Given the description of an element on the screen output the (x, y) to click on. 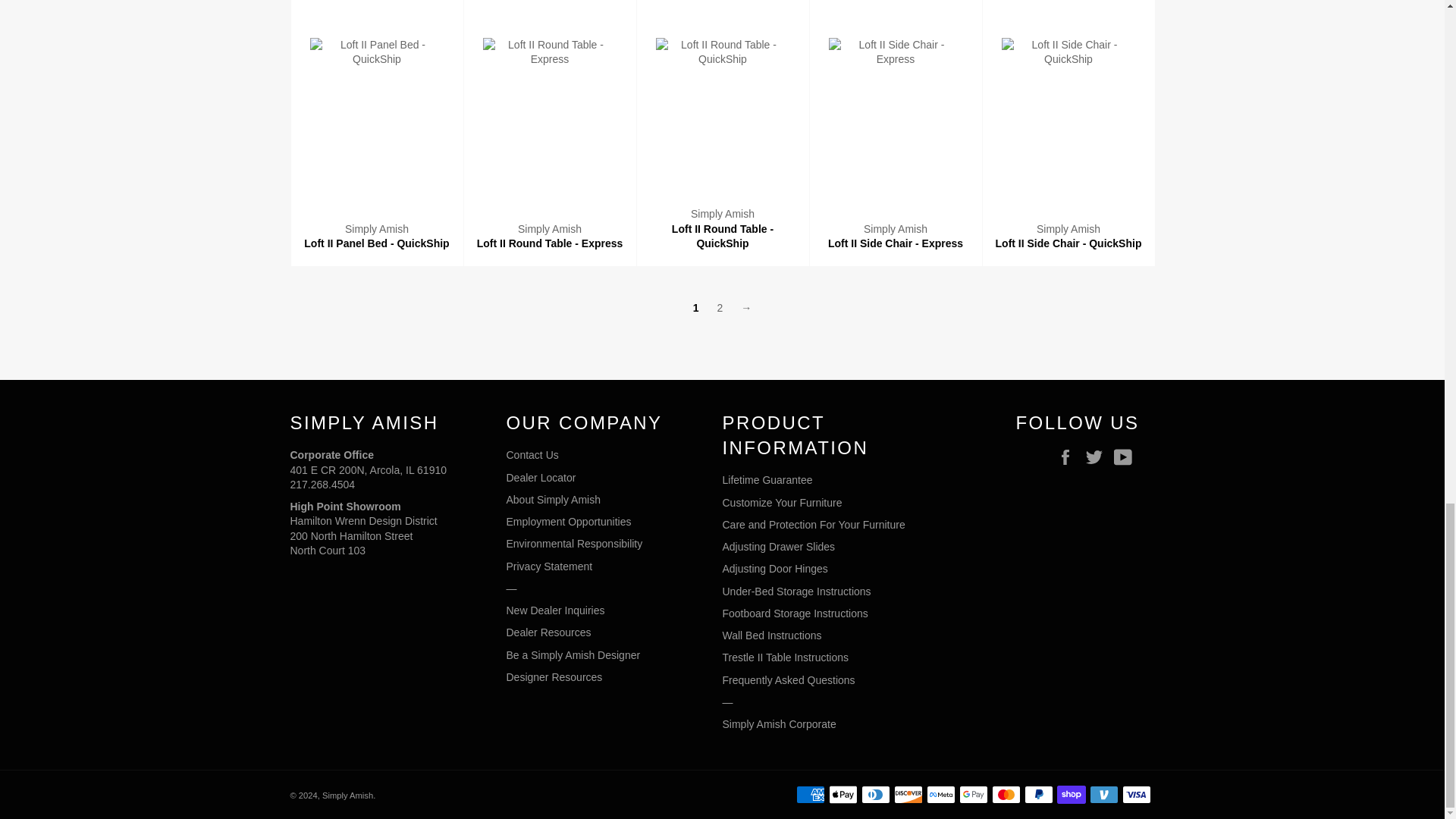
Simply Amish on Twitter (1097, 456)
Simply Amish on YouTube (1125, 456)
Simply Amish on Facebook (1069, 456)
